Given the description of an element on the screen output the (x, y) to click on. 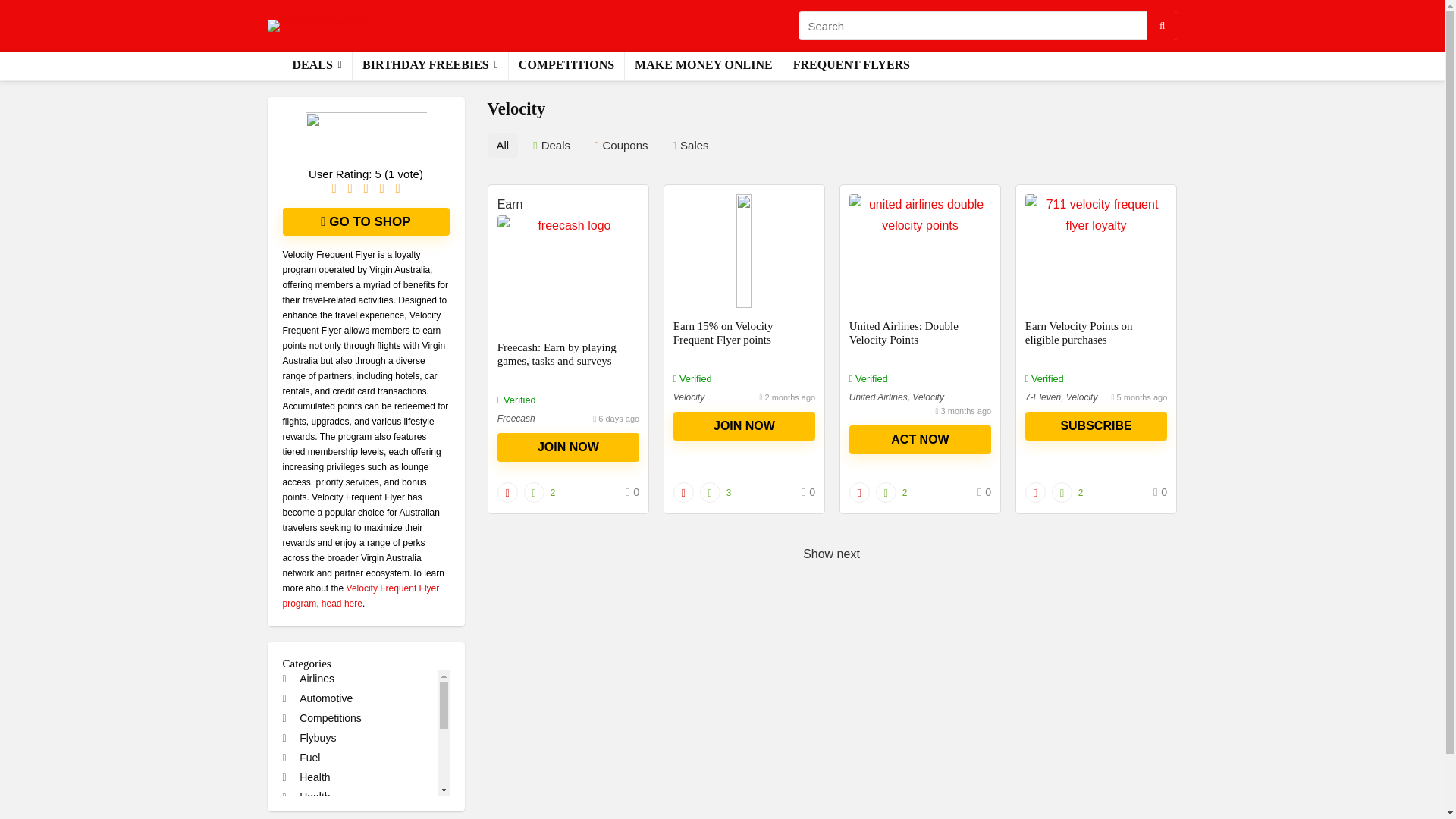
Vote down (858, 492)
MAKE MONEY ONLINE (703, 65)
Vote up (1061, 492)
BIRTHDAY FREEBIES (430, 65)
Competitions (321, 717)
Insurance (314, 814)
Velocity Frequent Flyer program, head here (360, 596)
Health (306, 796)
Fuel (301, 757)
COMPETITIONS (566, 65)
Vote up (710, 492)
Automotive (317, 698)
FREQUENT FLYERS (851, 65)
Airlines (308, 678)
Flybuys (309, 737)
